Given the description of an element on the screen output the (x, y) to click on. 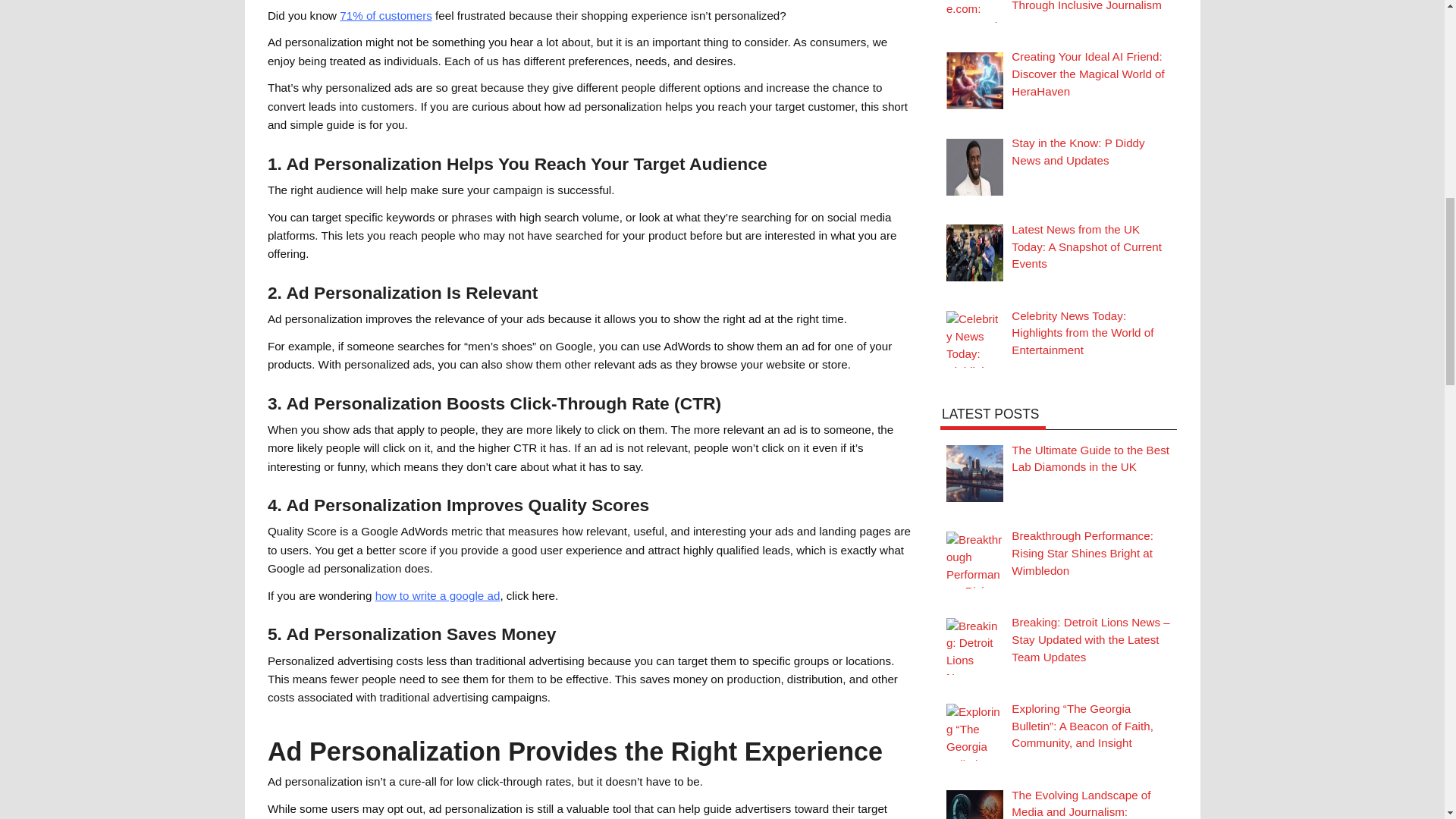
The Ultimate Guide to the Best Lab Diamonds in the UK (974, 473)
Stay in the Know: P Diddy News and Updates (1077, 151)
Latest News from the UK Today: A Snapshot of Current Events (974, 252)
Stay in the Know: P Diddy News and Updates (974, 166)
The Ultimate Guide to the Best Lab Diamonds in the UK (1090, 458)
Latest News from the UK Today: A Snapshot of Current Events (1086, 246)
how to write a google ad (437, 594)
